Given the description of an element on the screen output the (x, y) to click on. 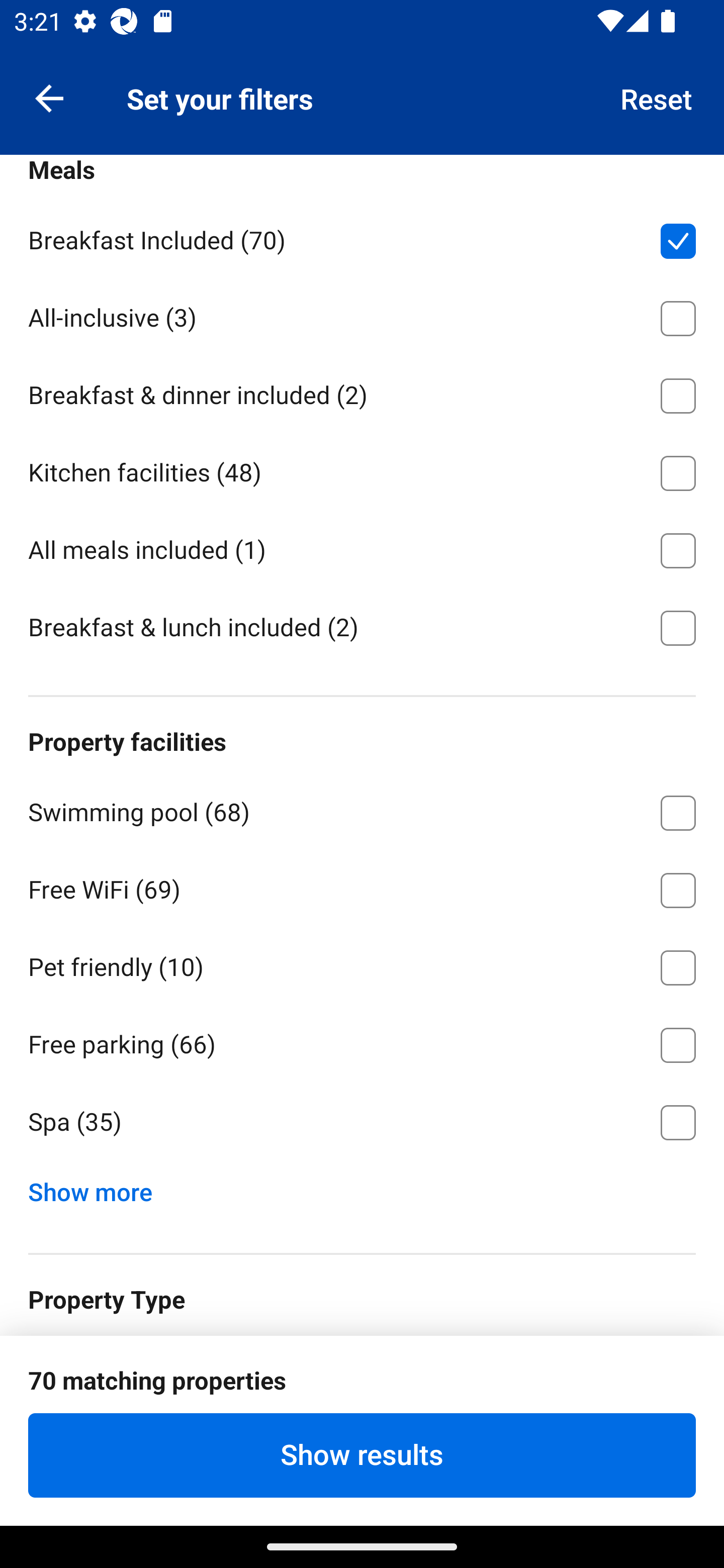
Navigate up (49, 97)
Reset (656, 97)
Breakfast Included ⁦(70) (361, 237)
All-inclusive ⁦(3) (361, 314)
Breakfast & dinner included ⁦(2) (361, 392)
Kitchen facilities ⁦(48) (361, 469)
All meals included ⁦(1) (361, 547)
Breakfast & lunch included ⁦(2) (361, 626)
Swimming pool ⁦(68) (361, 809)
Free WiFi ⁦(69) (361, 886)
Pet friendly ⁦(10) (361, 964)
Free parking ⁦(66) (361, 1041)
Spa ⁦(35) (361, 1122)
Show more (97, 1187)
Show results (361, 1454)
